Given the description of an element on the screen output the (x, y) to click on. 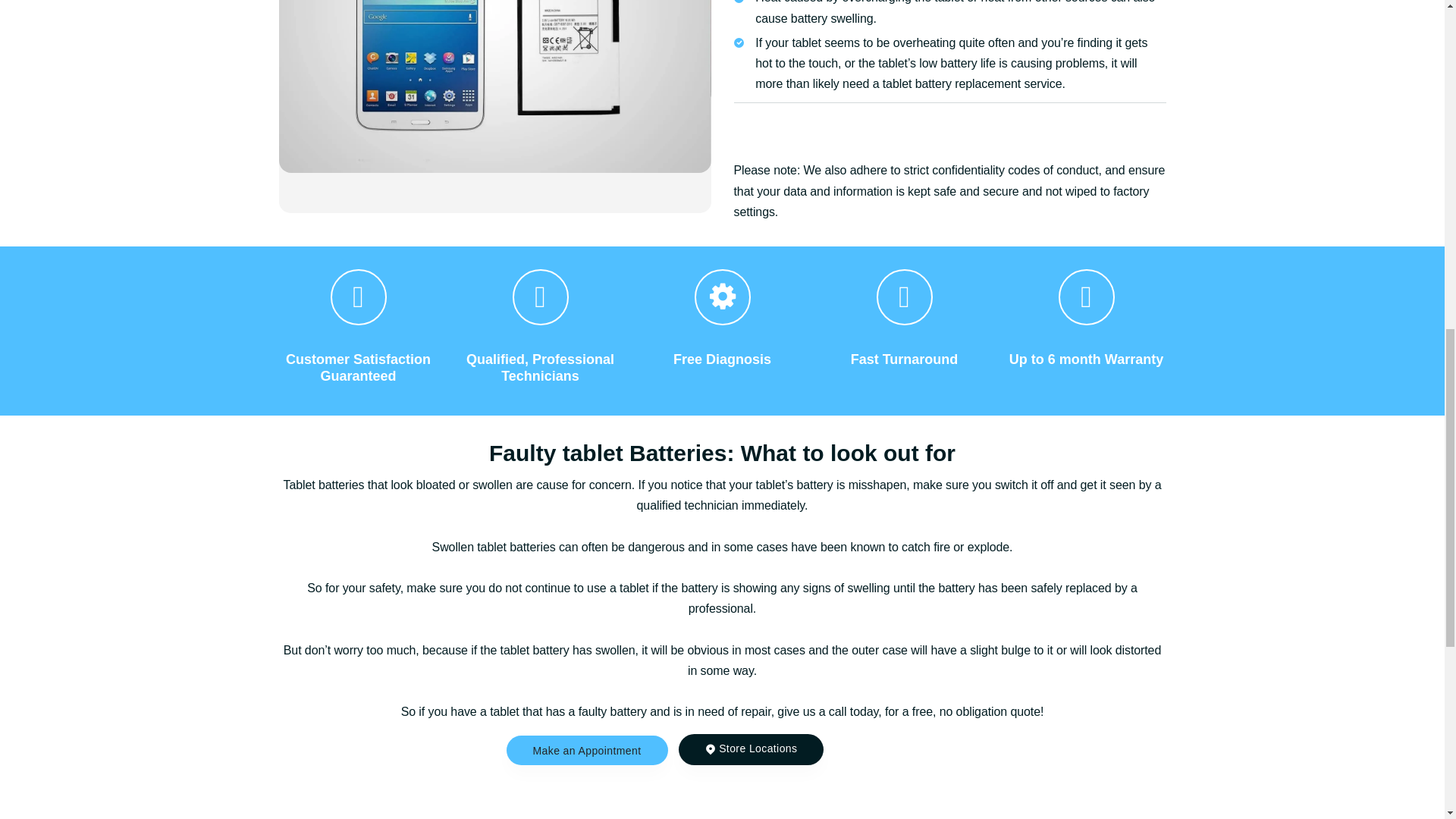
Make an Appointment (587, 749)
Store Locations (751, 748)
